Given the description of an element on the screen output the (x, y) to click on. 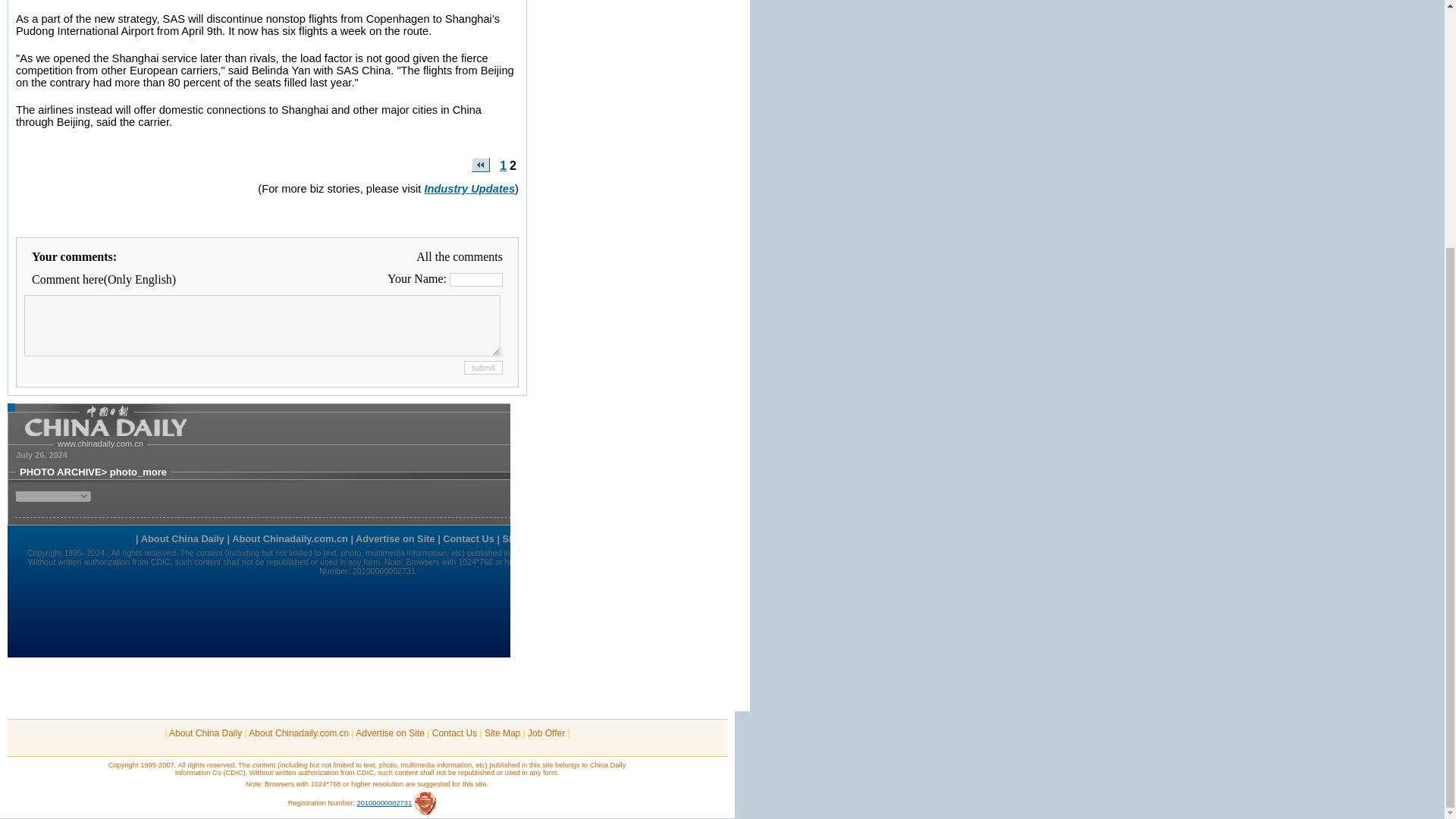
 submit  (483, 367)
Site Map (501, 733)
Industry Updates (469, 188)
Job Offer (545, 733)
All the comments (459, 256)
Advertise on Site (390, 733)
About Chinadaily.com.cn (298, 733)
Contact Us (454, 733)
 submit  (483, 367)
1 (502, 164)
20100000002731 (384, 802)
About China Daily (204, 733)
